Given the description of an element on the screen output the (x, y) to click on. 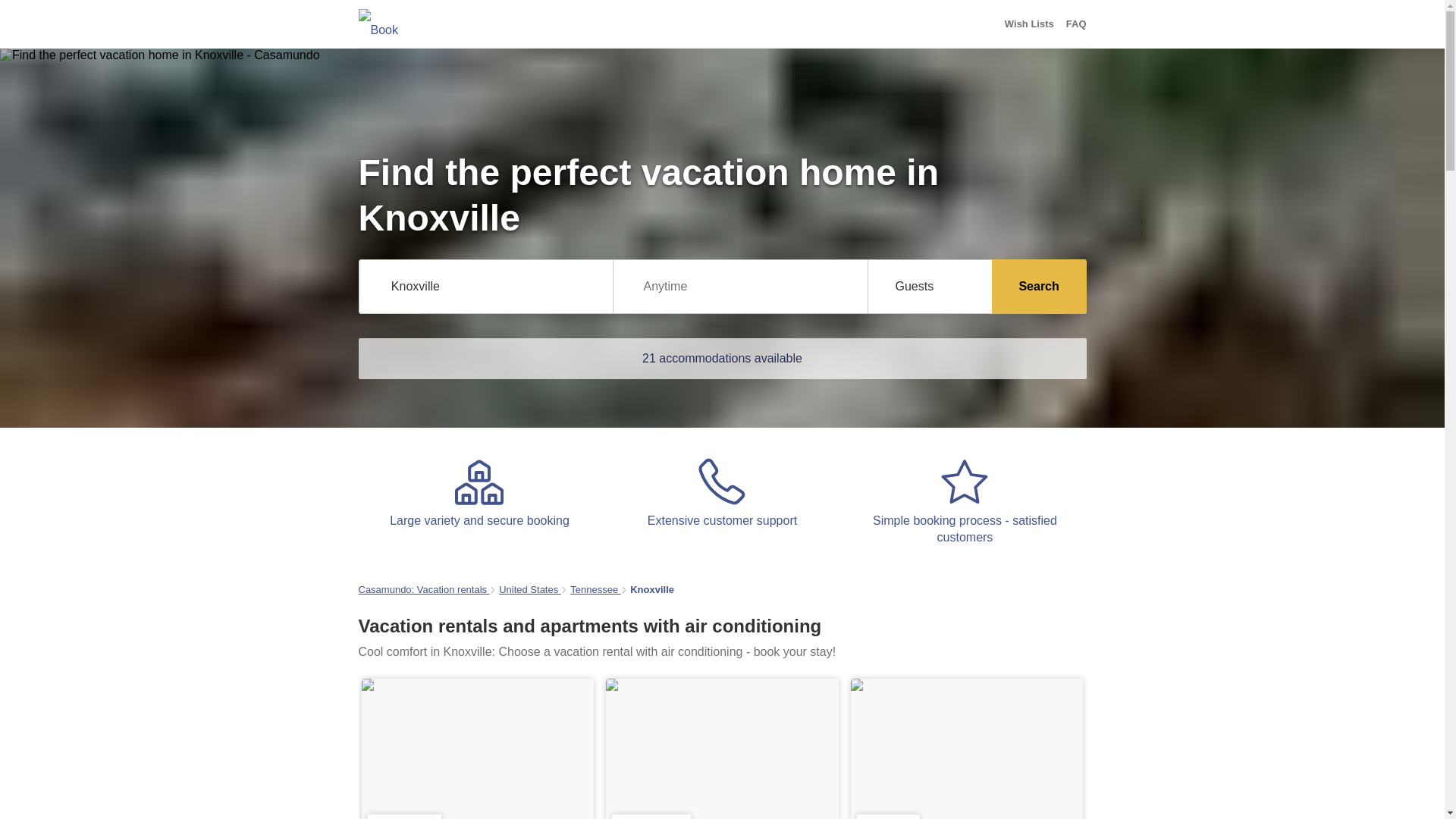
FAQ (1075, 24)
Tennessee (595, 589)
United States (529, 589)
Wish Lists (1029, 24)
Casamundo: Vacation rentals (423, 589)
Casamundo: Vacation rentals (423, 589)
Tennessee (595, 589)
Search (1038, 286)
United States (529, 589)
